Given the description of an element on the screen output the (x, y) to click on. 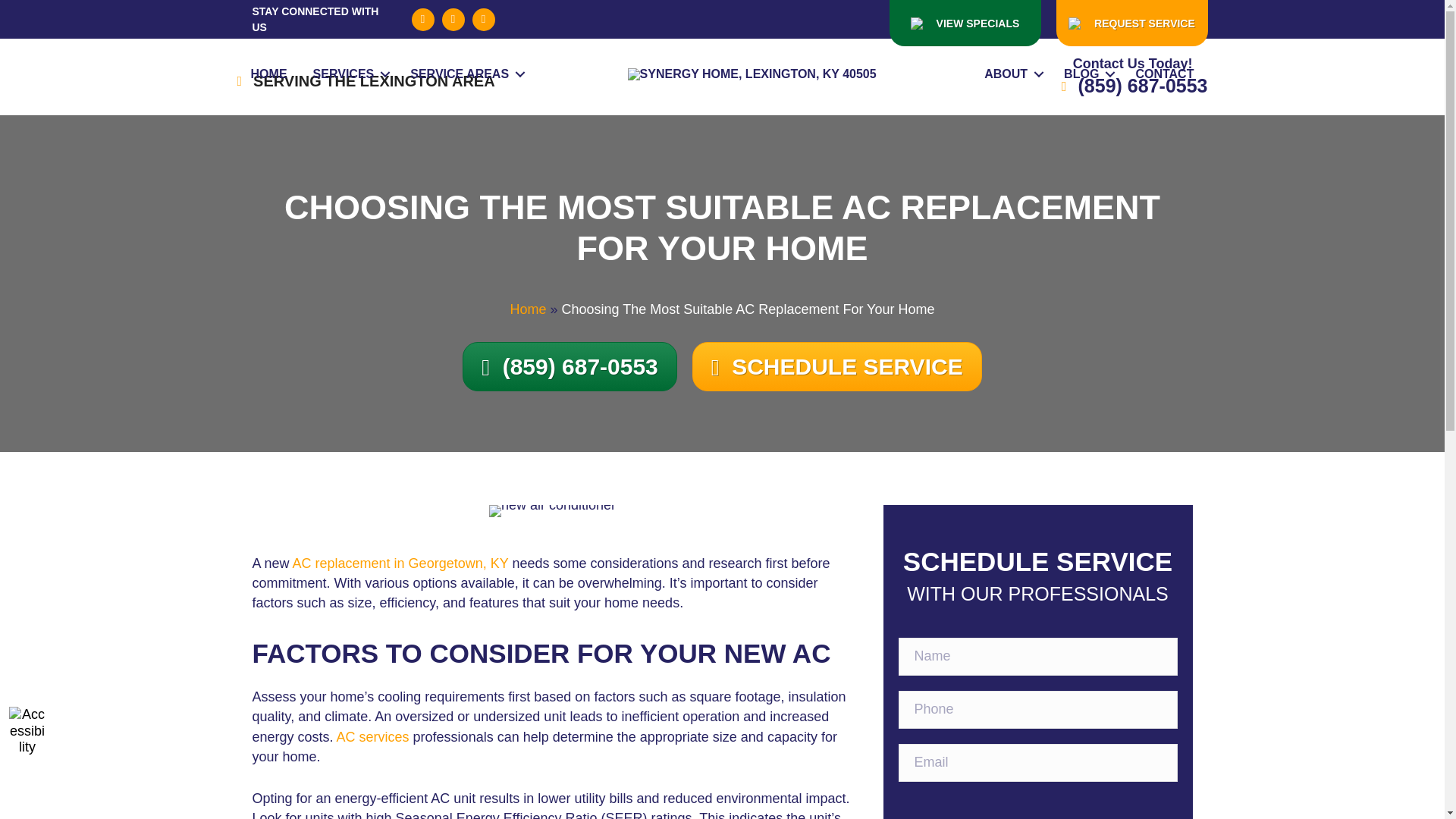
HOME (269, 73)
new air conditioner (552, 510)
REQUEST SERVICE (1131, 22)
VIEW SPECIALS (964, 22)
Instagram (483, 19)
SERVICES (348, 73)
Accessibility Helper sidebar (26, 724)
